Given the description of an element on the screen output the (x, y) to click on. 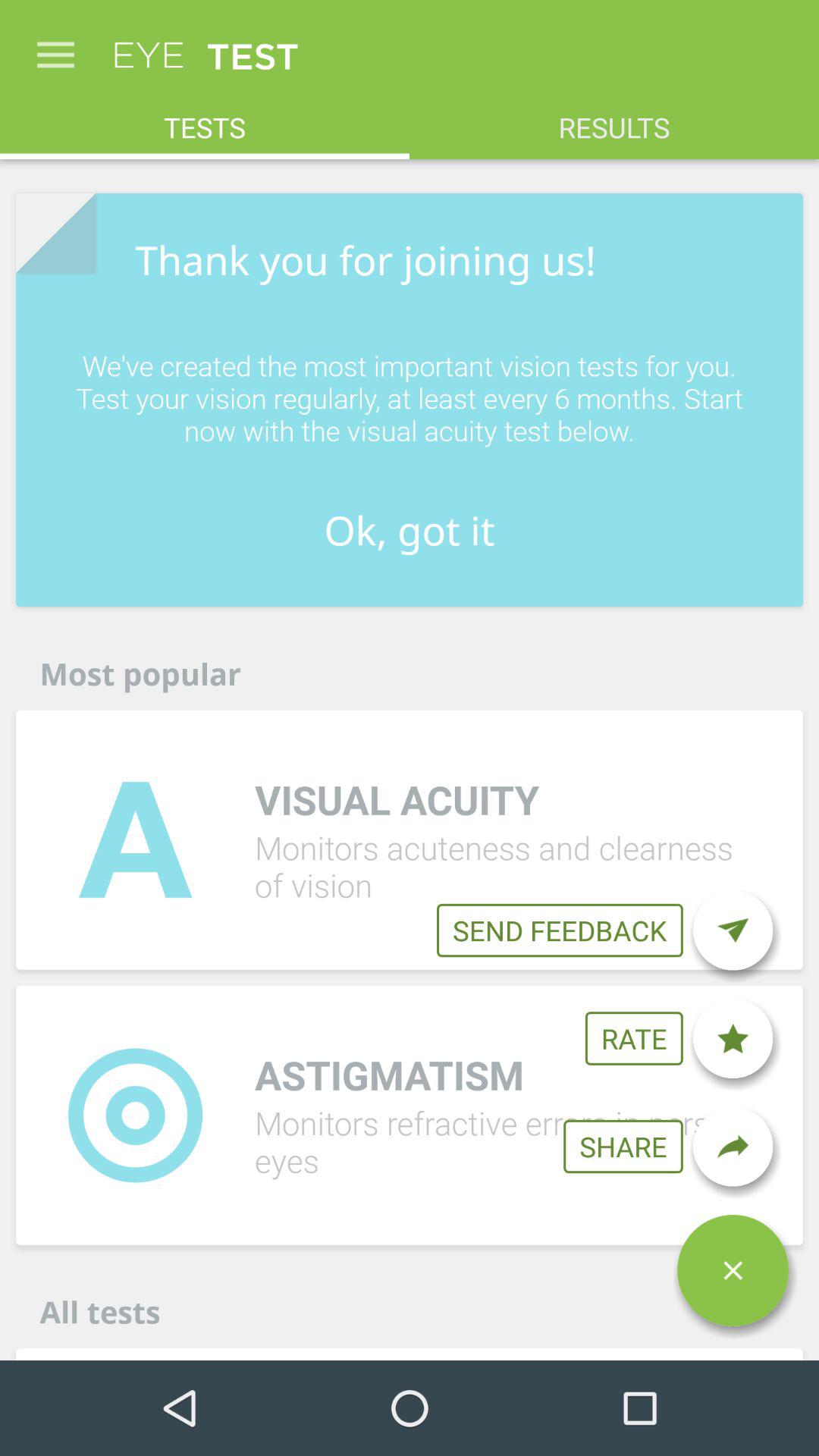
share application (733, 1146)
